Given the description of an element on the screen output the (x, y) to click on. 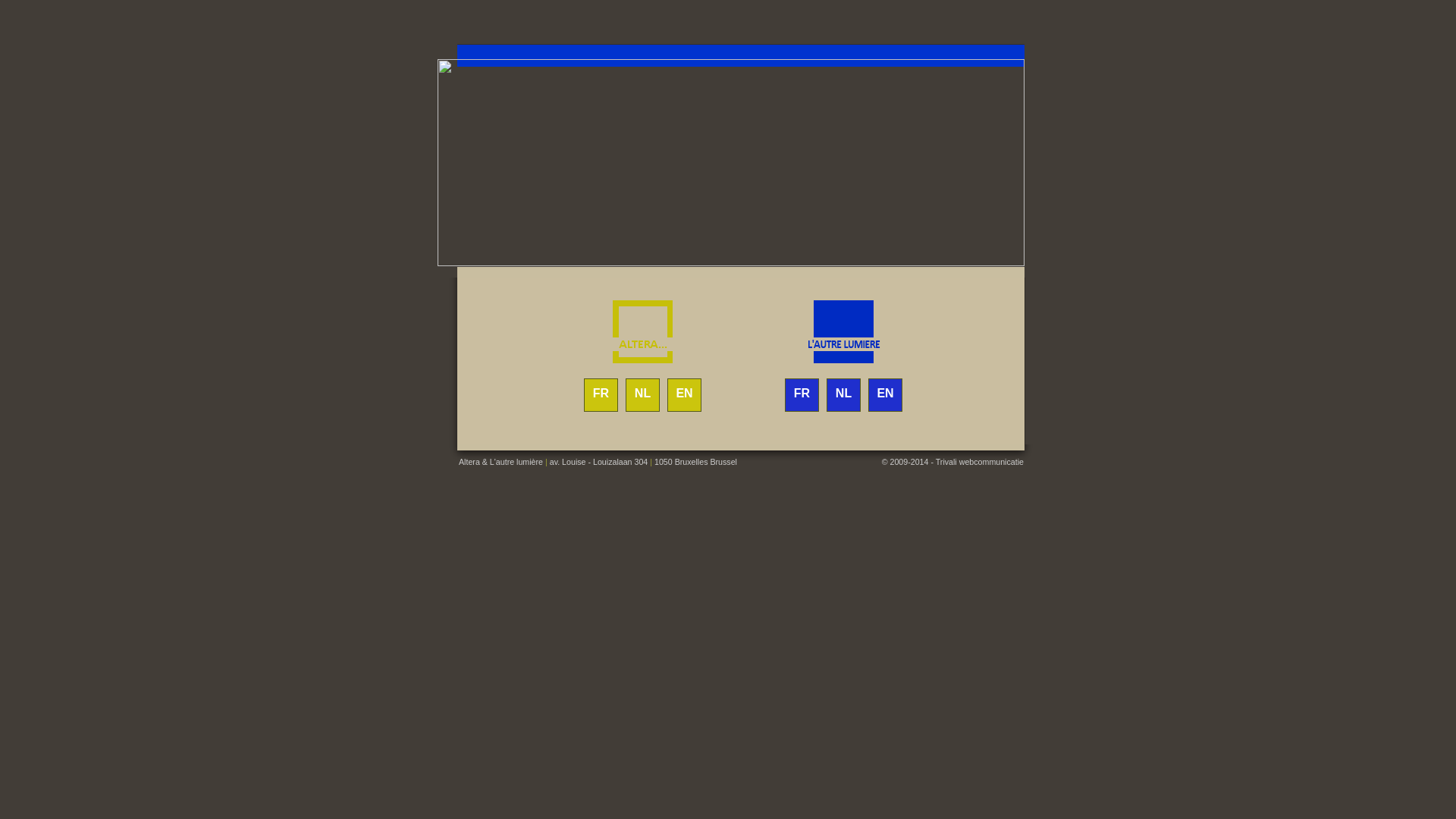
EN Element type: text (683, 392)
NL Element type: text (843, 392)
FR Element type: text (801, 392)
Trivali webcommunicatie Element type: text (979, 461)
NL Element type: text (642, 392)
FR Element type: text (600, 392)
EN Element type: text (884, 392)
